Given the description of an element on the screen output the (x, y) to click on. 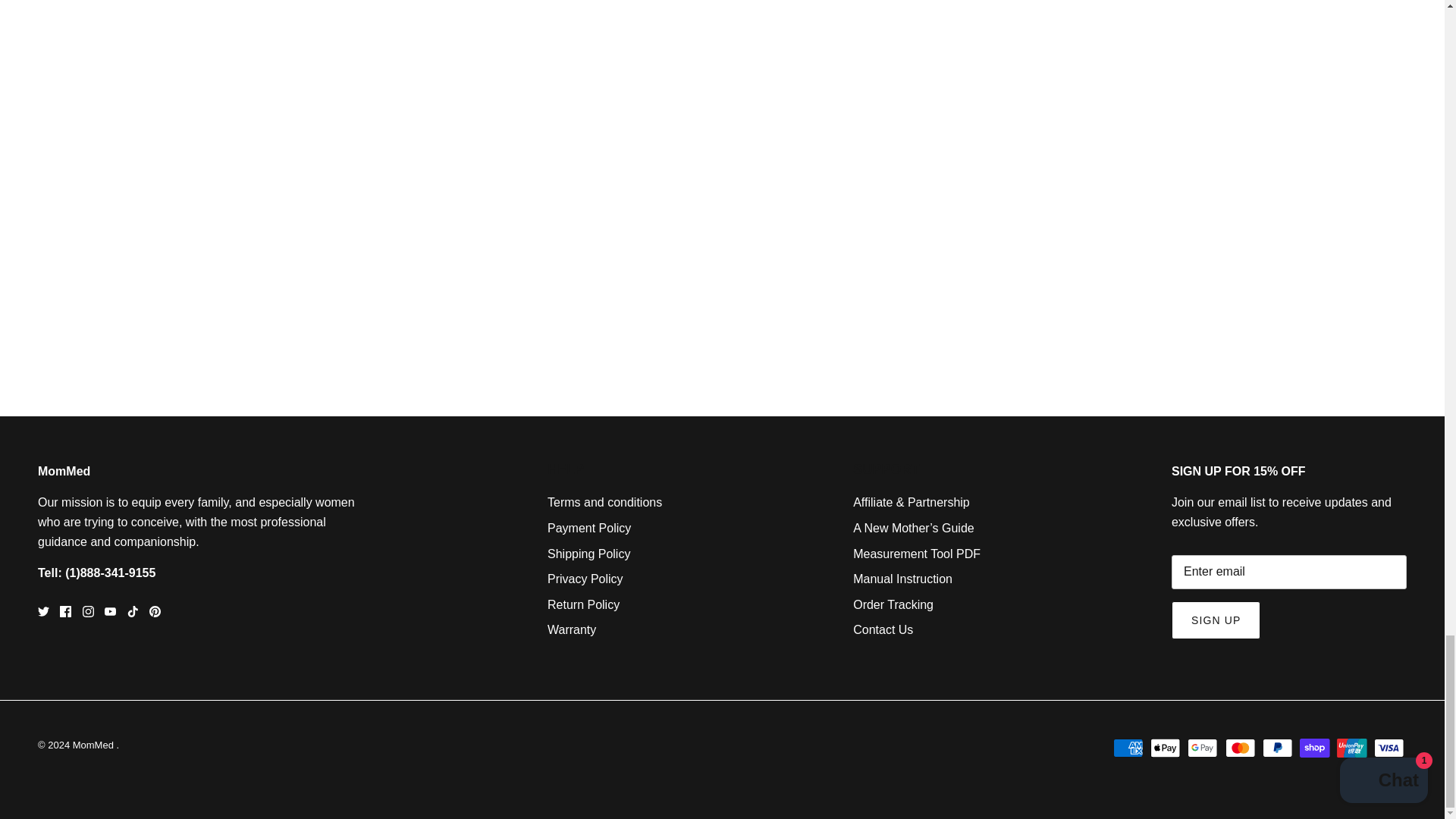
Twitter (43, 611)
Instagram (88, 611)
Facebook (65, 611)
Pinterest (154, 611)
Youtube (110, 611)
